Given the description of an element on the screen output the (x, y) to click on. 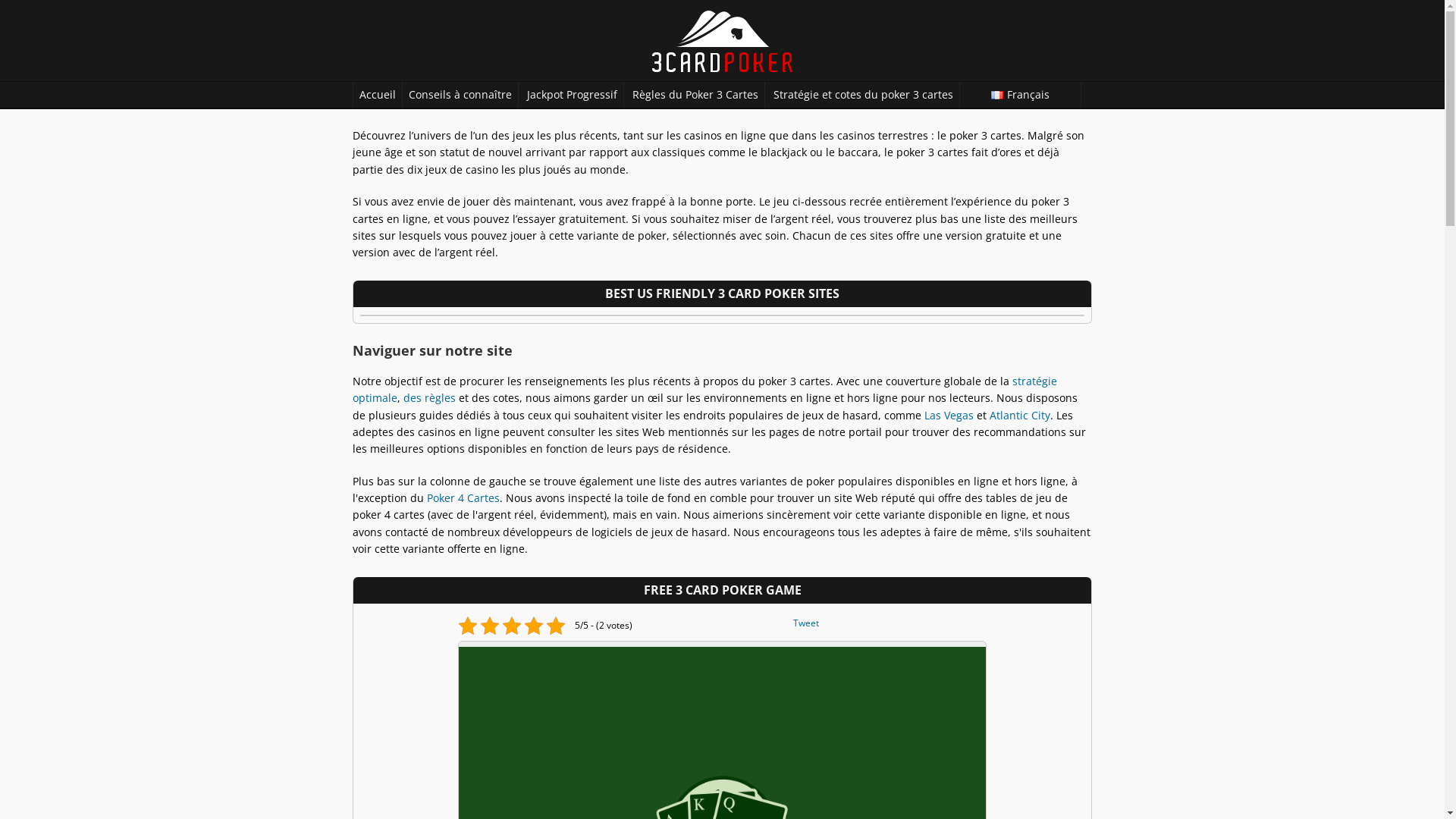
Jackpot Progressif Element type: text (572, 94)
Poker 4 Cartes Element type: text (462, 497)
Accueil Element type: text (377, 94)
Las Vegas Element type: text (948, 414)
Tweet Element type: text (823, 622)
Atlantic City Element type: text (1019, 414)
